Given the description of an element on the screen output the (x, y) to click on. 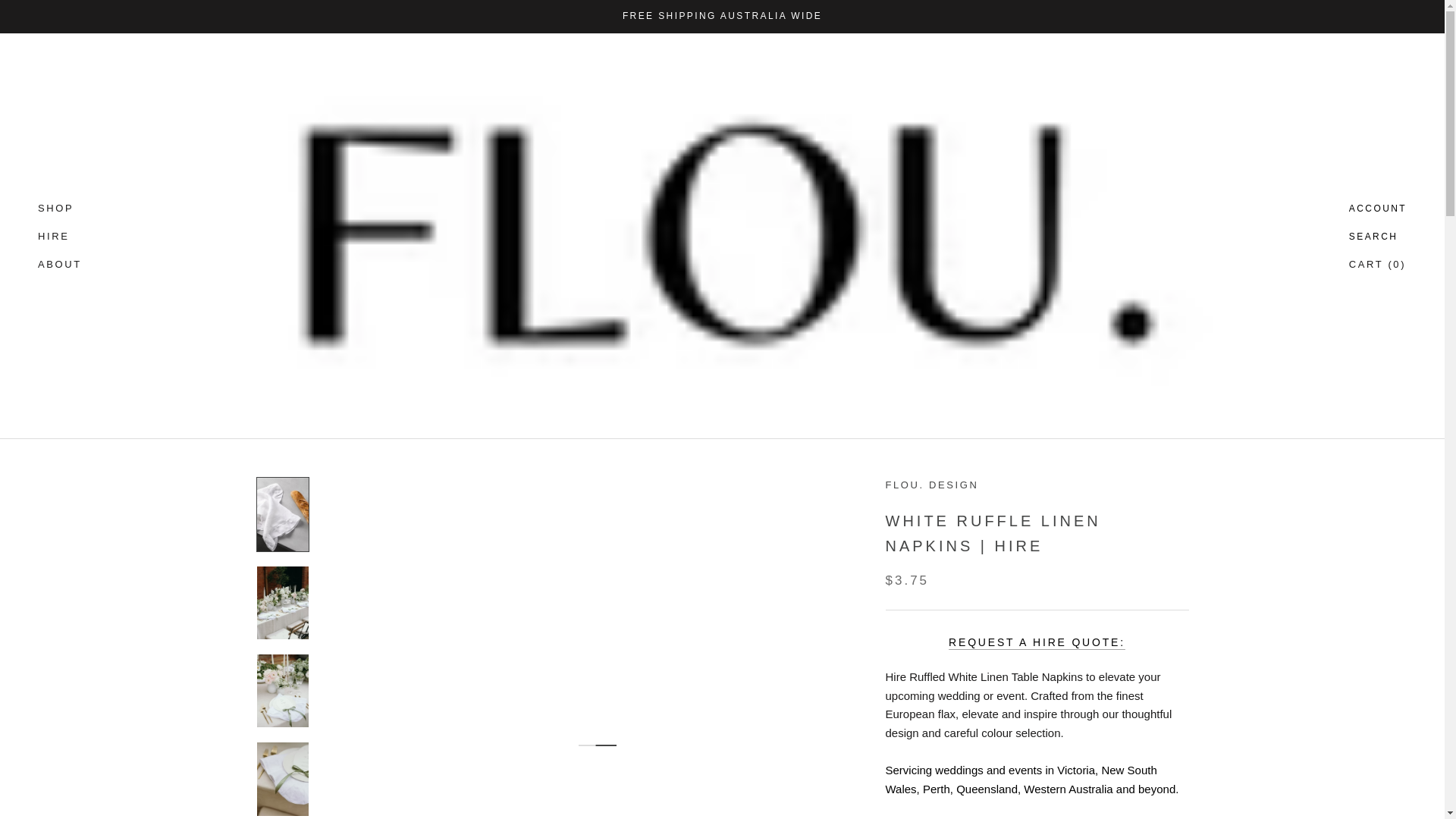
Flou event hire quote (1037, 641)
